Given the description of an element on the screen output the (x, y) to click on. 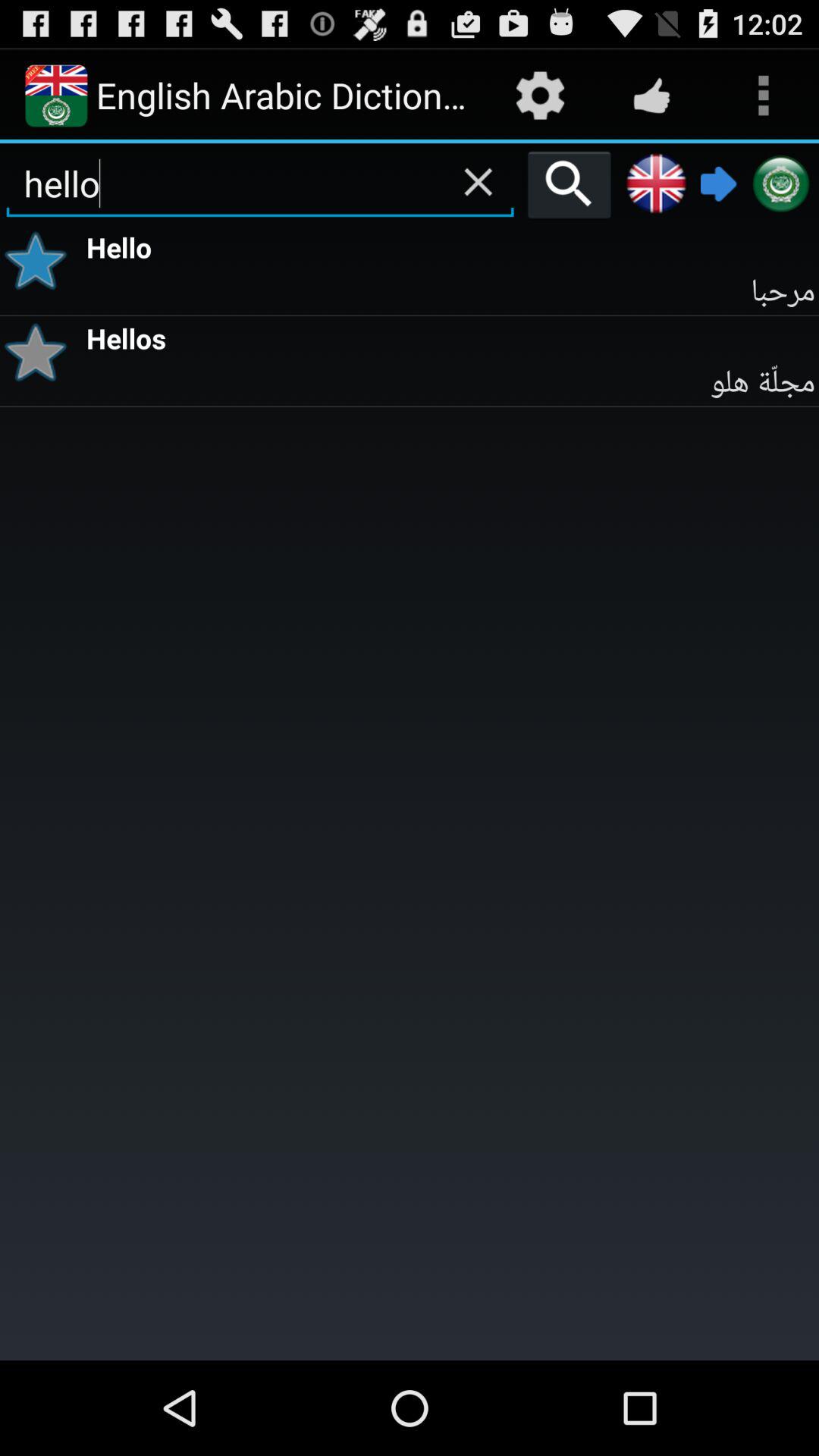
choose app below the hello (451, 291)
